Given the description of an element on the screen output the (x, y) to click on. 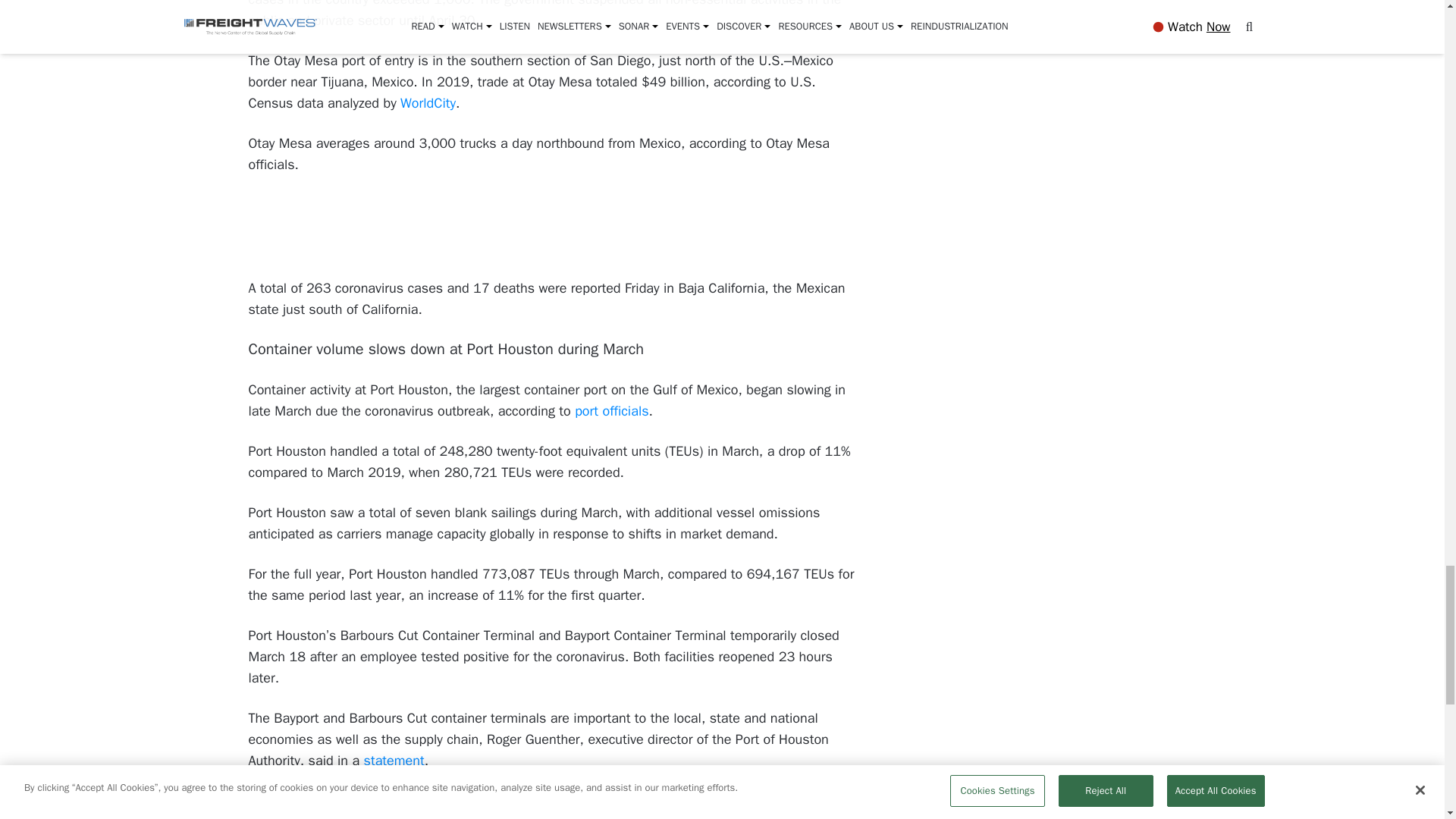
3rd party ad content (552, 228)
